Given the description of an element on the screen output the (x, y) to click on. 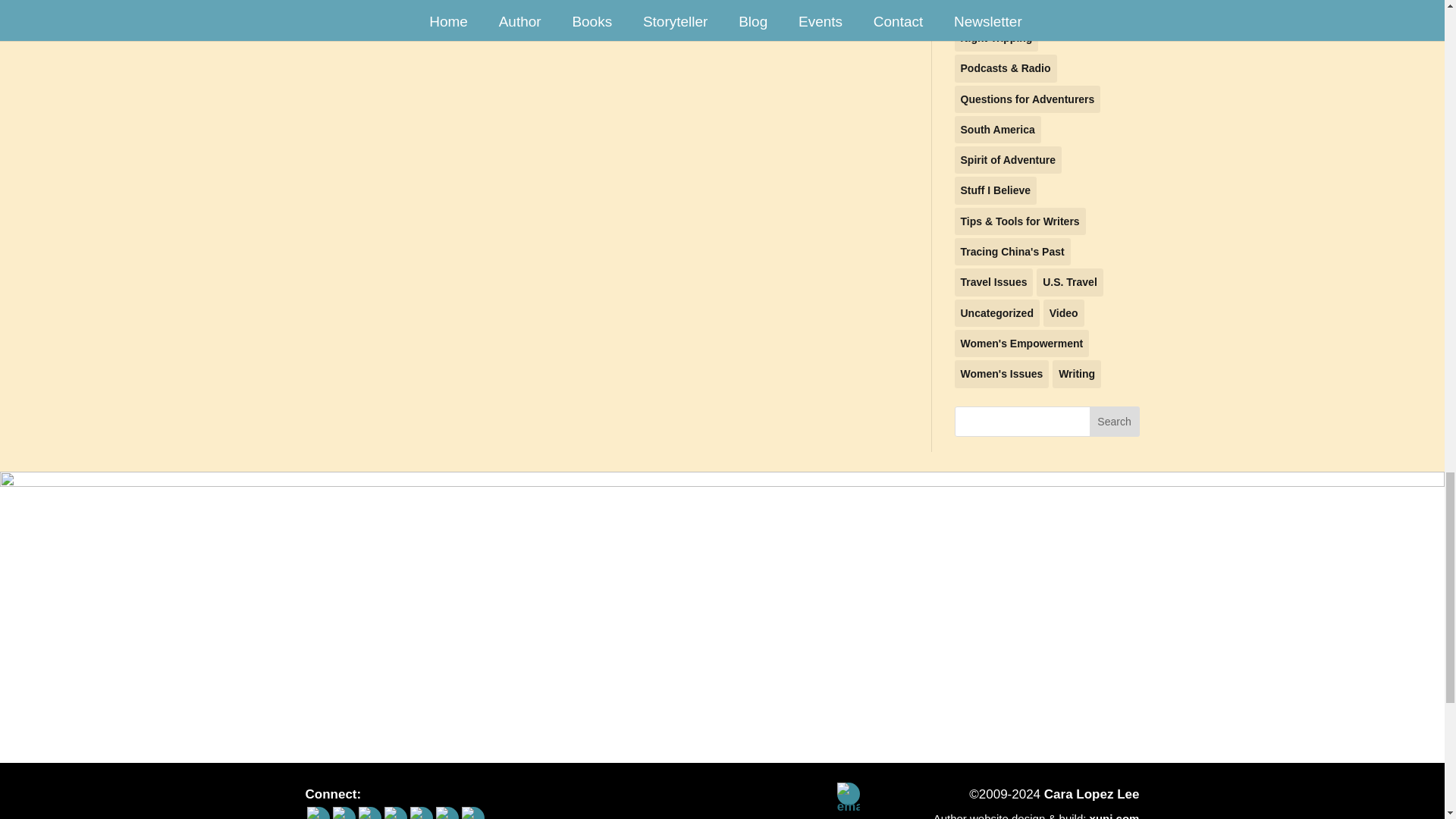
Search (1114, 421)
